Given the description of an element on the screen output the (x, y) to click on. 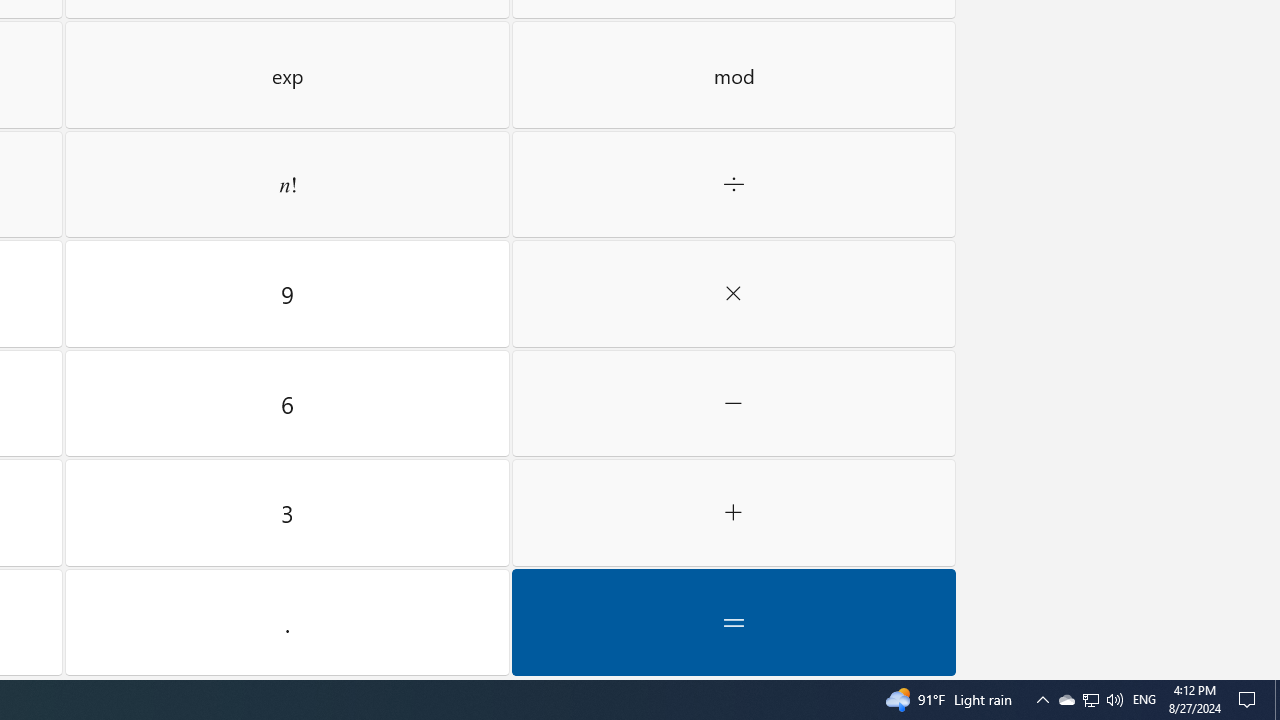
Factorial (287, 184)
Multiply by (1066, 699)
Divide by (734, 293)
Q2790: 100% (734, 184)
Show desktop (1114, 699)
Six (1277, 699)
